Given the description of an element on the screen output the (x, y) to click on. 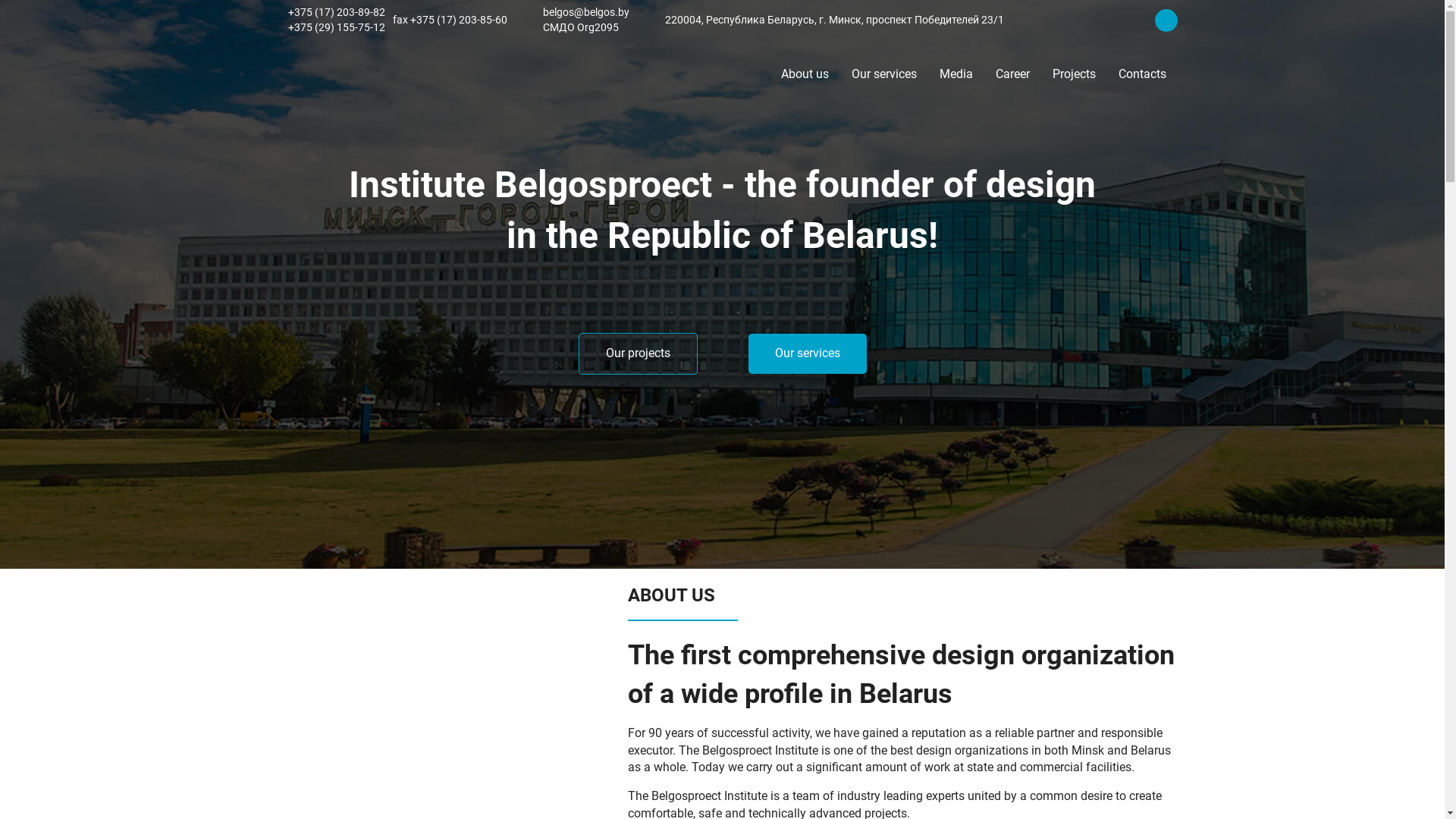
fax +375 (17) 203-85-60 Element type: text (449, 20)
Contacts Element type: text (1142, 74)
Projects Element type: text (1073, 74)
Career Element type: text (1012, 74)
Our services Element type: text (806, 353)
+375 (17) 203-89-82
+375 (29) 155-75-12 Element type: text (336, 19)
About us Element type: text (803, 74)
Media Element type: text (956, 74)
Our projects Element type: text (636, 352)
Our services Element type: text (884, 74)
